Given the description of an element on the screen output the (x, y) to click on. 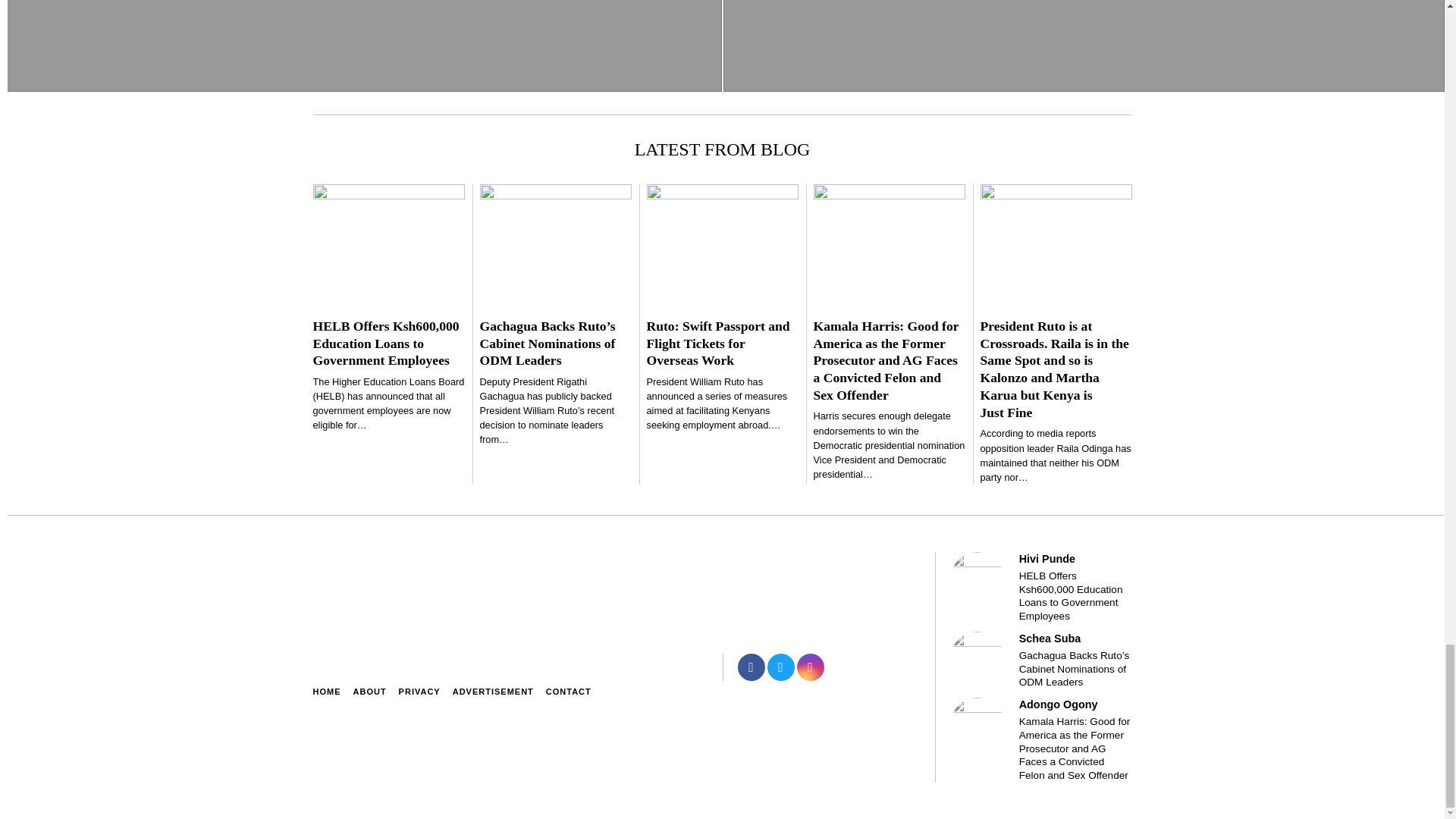
Twitter (780, 666)
Instagram (810, 666)
Facebook (750, 666)
Hivi Punde (976, 579)
